Given the description of an element on the screen output the (x, y) to click on. 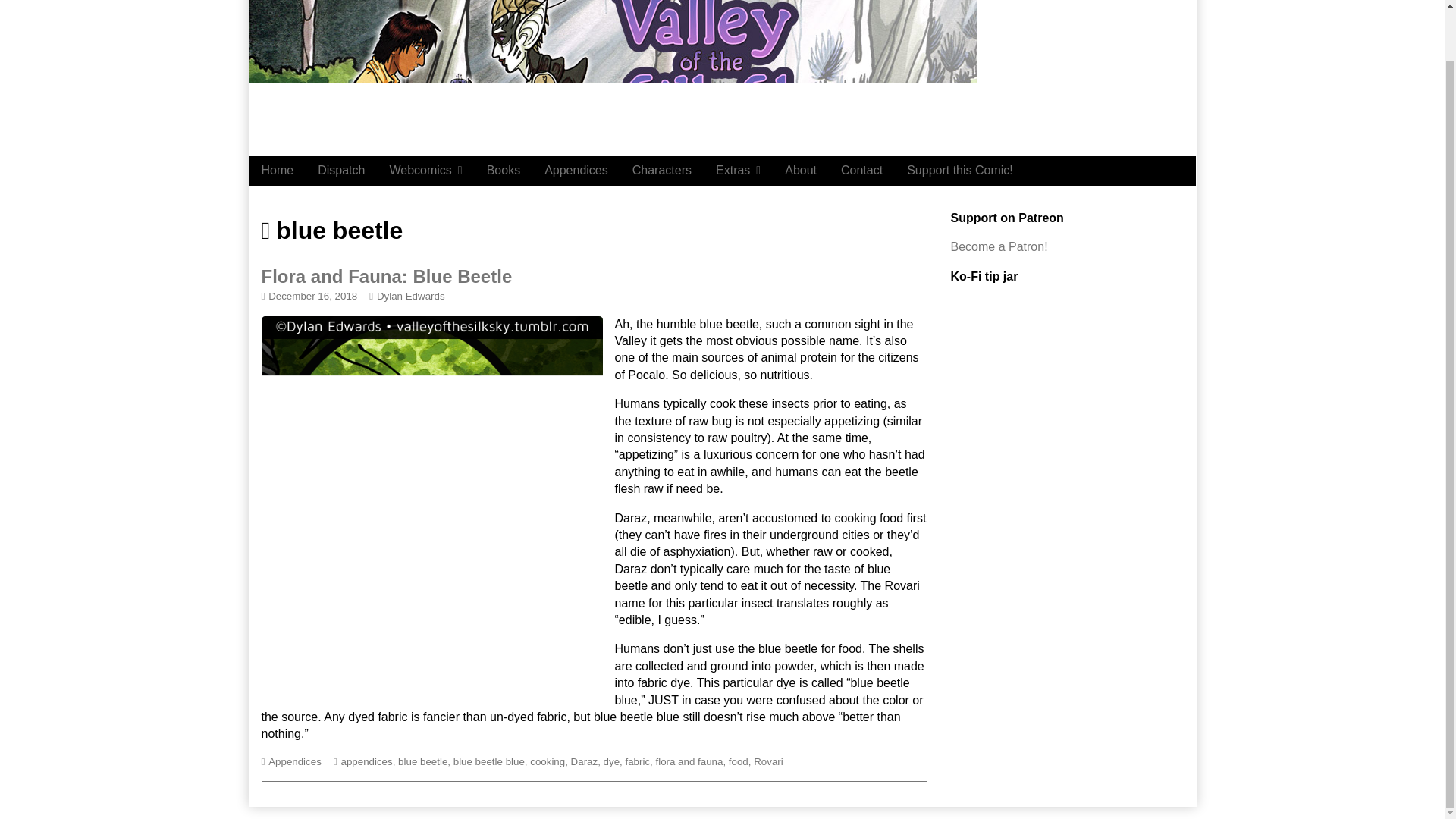
Daraz (584, 761)
Appendices (576, 170)
flora and fauna (688, 761)
About (800, 170)
Home (276, 170)
cooking (546, 761)
food (738, 761)
Become a Patron! (999, 246)
fabric (636, 761)
Support this Comic! (960, 170)
